Given the description of an element on the screen output the (x, y) to click on. 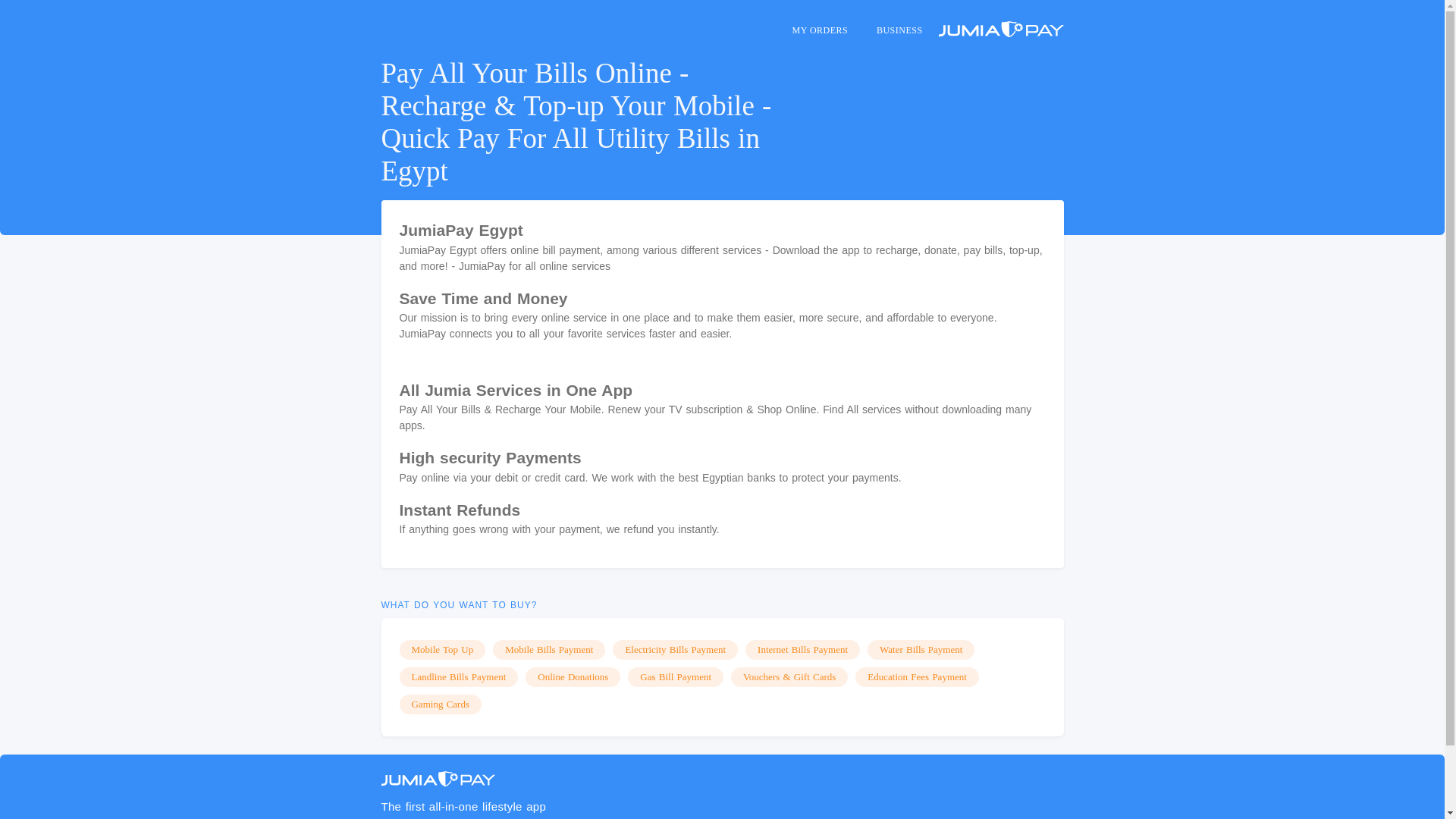
MY ORDERS (819, 30)
Electricity Bills Payment (675, 649)
JumiaPay (437, 779)
Gas Bill Payment (675, 677)
Mobile Bills Payment (549, 649)
Online Donations (572, 677)
Education Fees Payment (917, 677)
BUSINESS (899, 30)
Gas Bill Payment (675, 677)
Landline Bills Payment (458, 677)
Gaming Cards (439, 704)
Water Bills Payment (920, 649)
Mobile Top Up (441, 649)
Mobile Bills Payment (549, 649)
Electricity Bills Payment (675, 649)
